Given the description of an element on the screen output the (x, y) to click on. 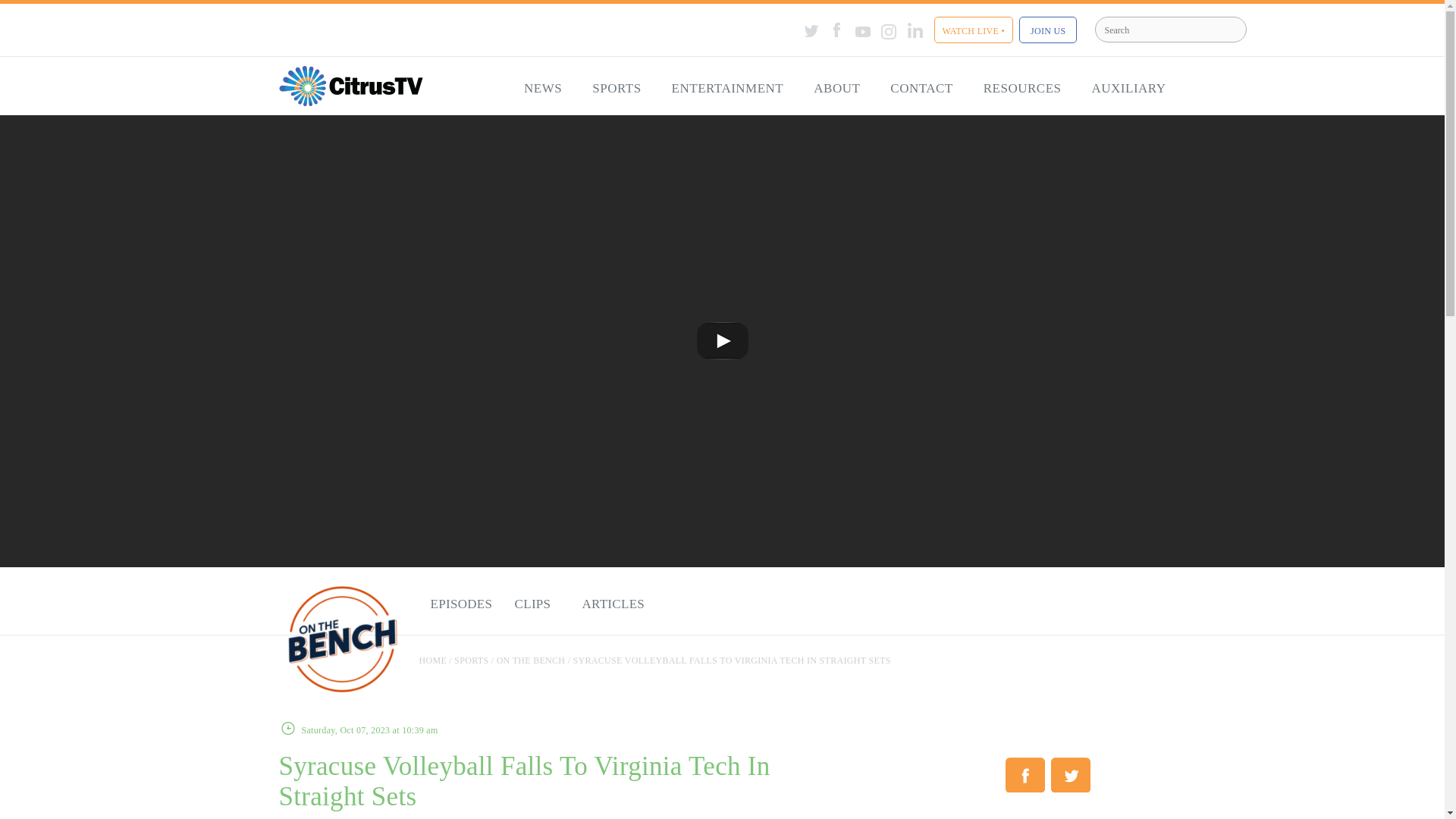
CONTACT (921, 88)
ABOUT (836, 88)
ENTERTAINMENT (727, 88)
JOIN US (1048, 29)
RESOURCES (1022, 88)
NEWS (542, 88)
SPORTS (616, 88)
